Given the description of an element on the screen output the (x, y) to click on. 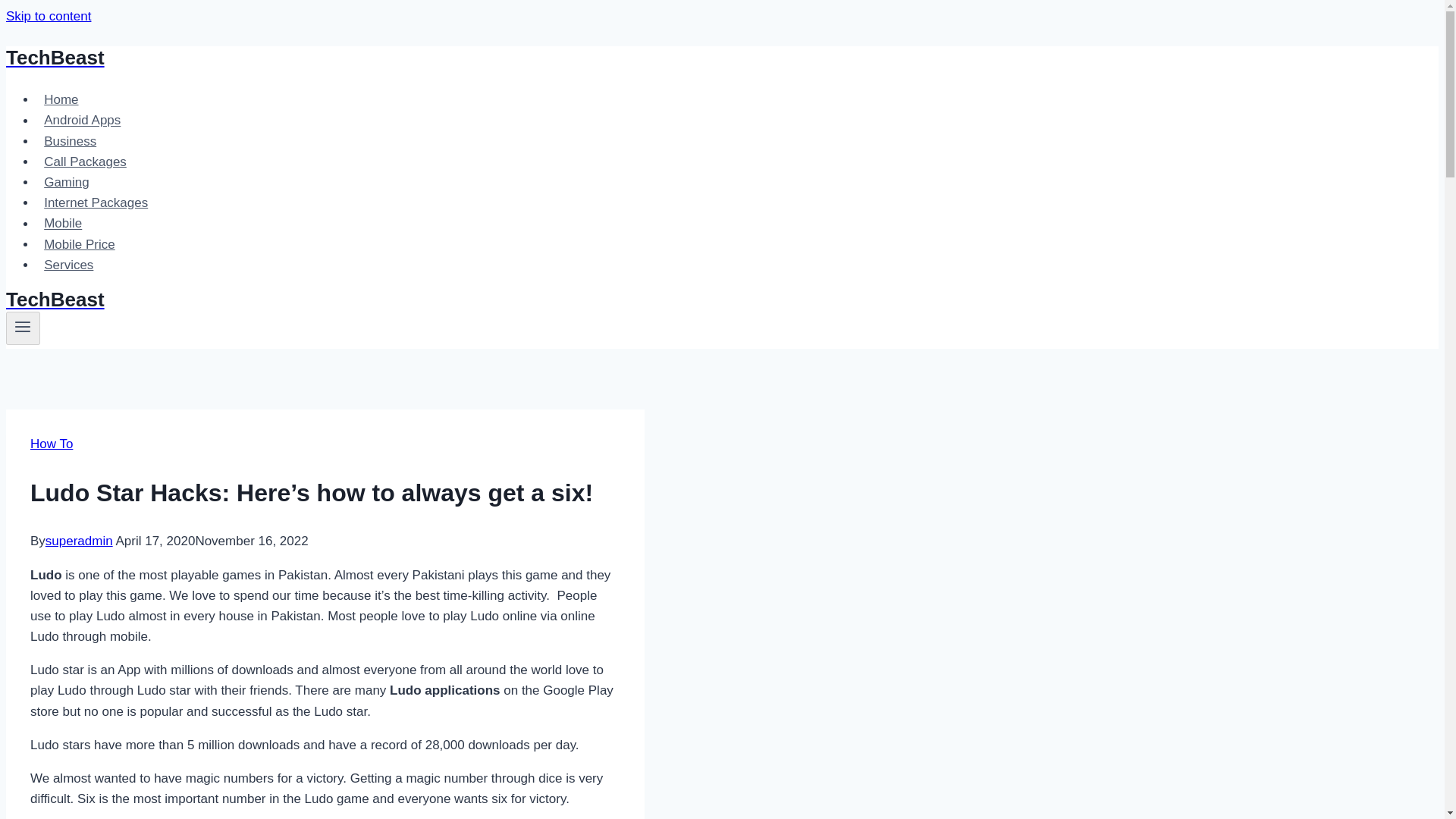
Toggle Menu (22, 326)
TechBeast (494, 300)
Gaming (66, 182)
superadmin (79, 540)
Home (60, 99)
TechBeast (494, 57)
Skip to content (47, 16)
Android Apps (82, 120)
Toggle Menu (22, 328)
Skip to content (47, 16)
